Given the description of an element on the screen output the (x, y) to click on. 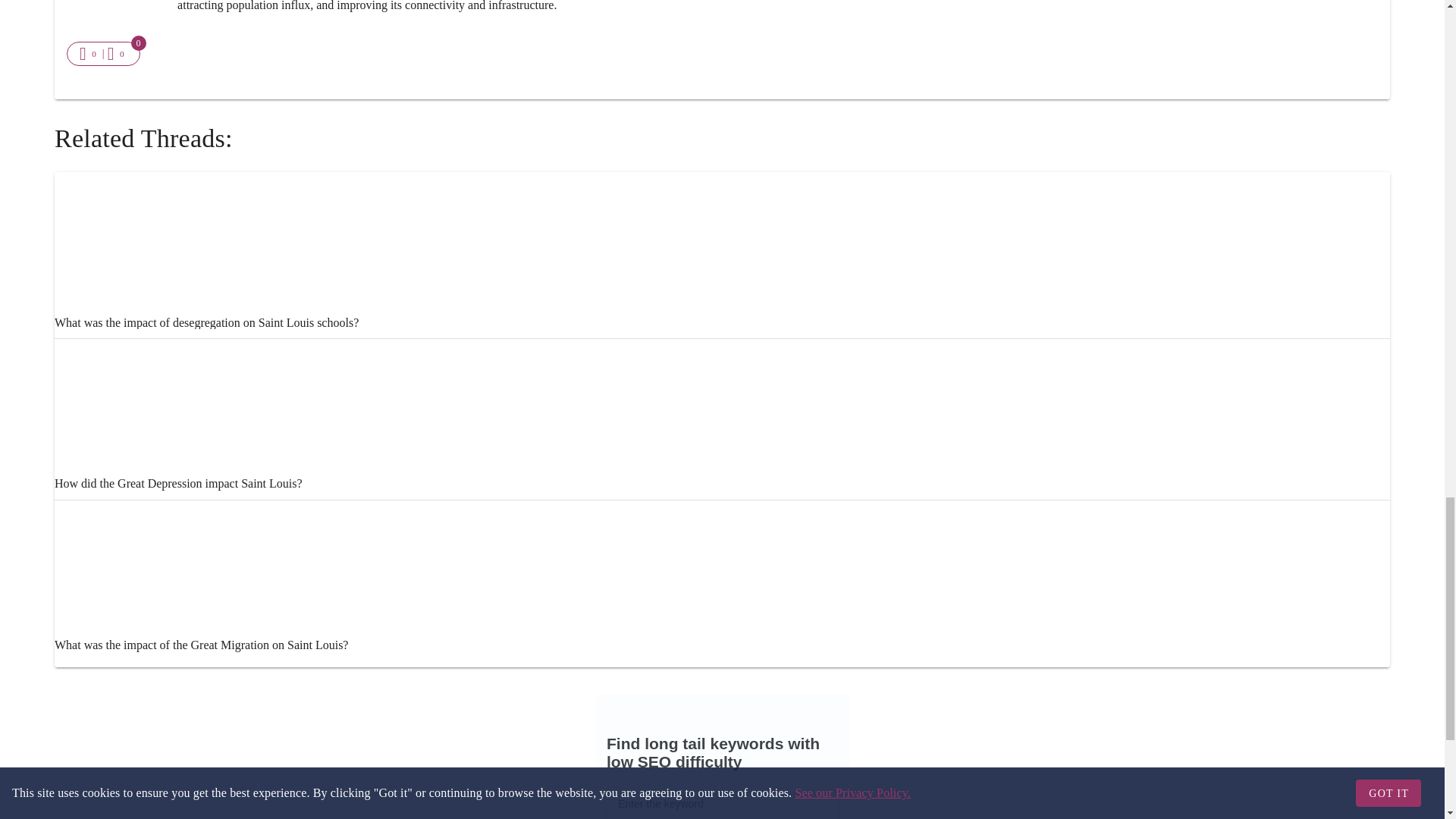
0 (117, 54)
0 (89, 54)
kara (100, 475)
